Given the description of an element on the screen output the (x, y) to click on. 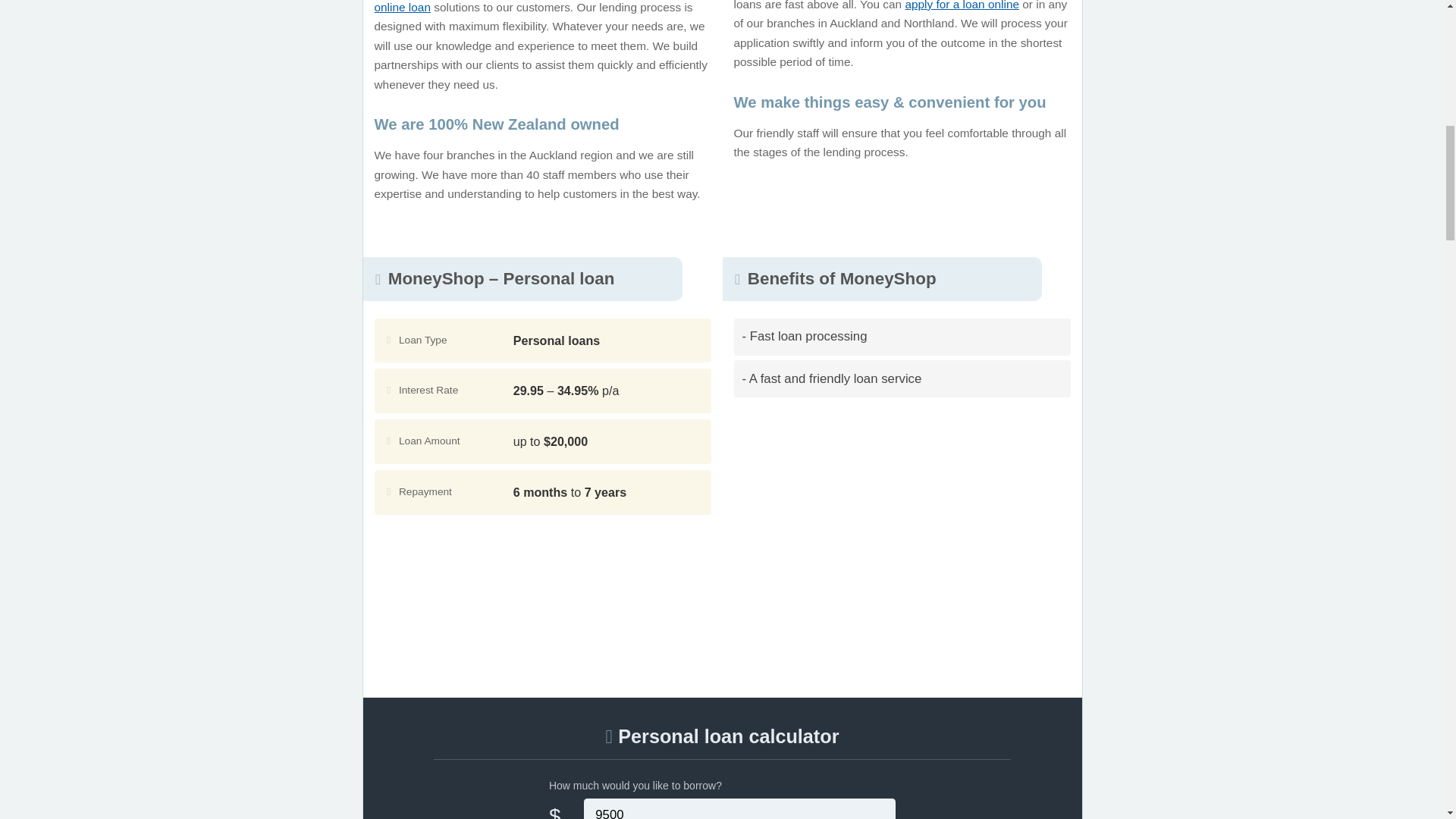
apply for a loan online (961, 5)
easy online loan (527, 6)
 9500  (739, 808)
